Given the description of an element on the screen output the (x, y) to click on. 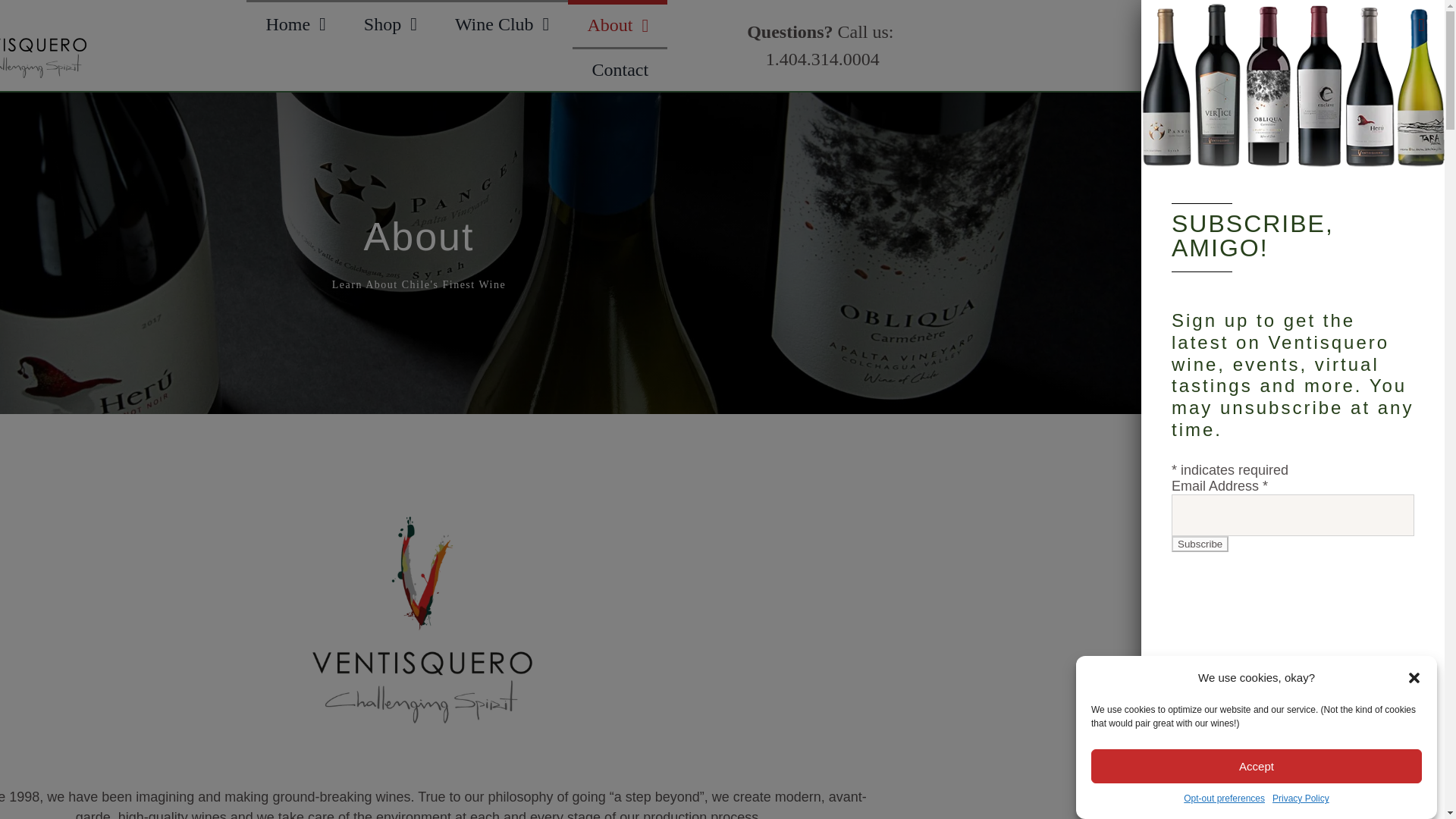
Subscribe (390, 23)
Home (1200, 544)
